Given the description of an element on the screen output the (x, y) to click on. 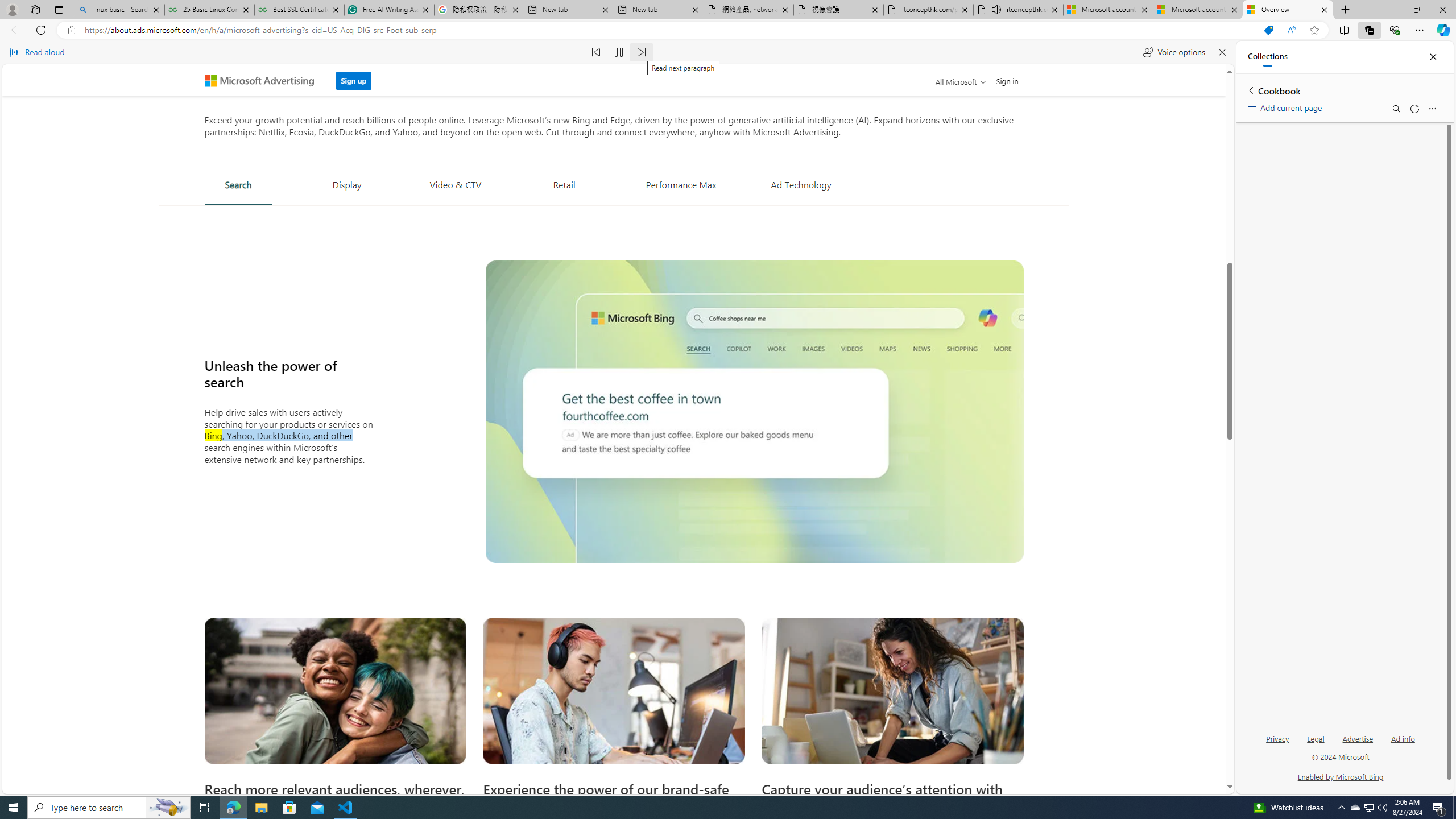
Sign in (1007, 80)
Sign up (352, 81)
linux basic - Search (118, 9)
Overview (1287, 9)
itconcepthk.com/projector_solutions.mp4 - Audio playing (1018, 9)
Voice options (1174, 52)
